Given the description of an element on the screen output the (x, y) to click on. 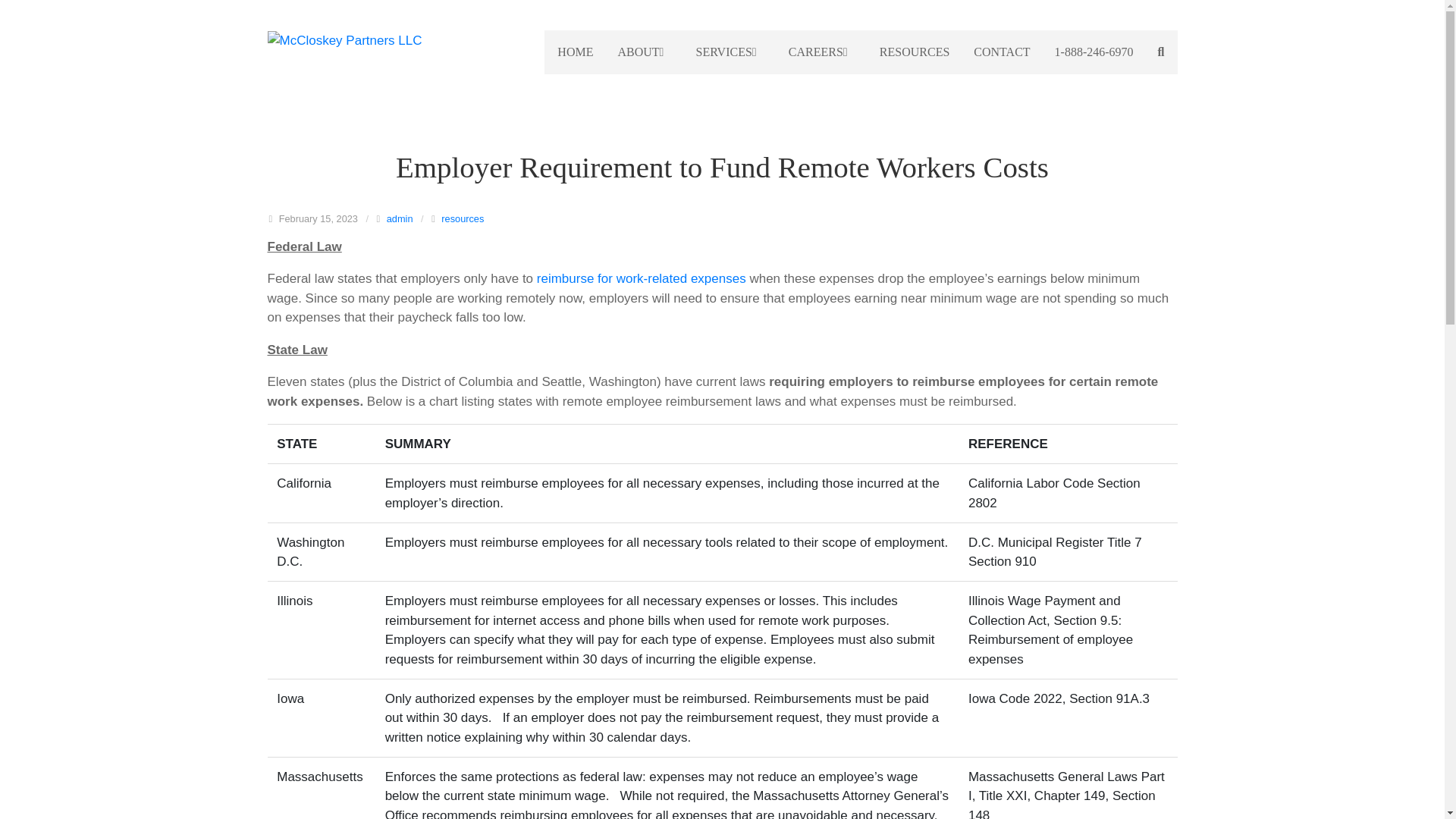
McCloskey Partners LLC (371, 39)
admin (400, 218)
1-888-246-6970 (1093, 52)
CONTACT (1001, 52)
CAREERS (821, 52)
HOME (574, 52)
SERVICES (730, 52)
resources (462, 218)
reimburse for work-related expenses (641, 278)
View all posts by admin (400, 218)
RESOURCES (913, 52)
ABOUT (643, 52)
